Given the description of an element on the screen output the (x, y) to click on. 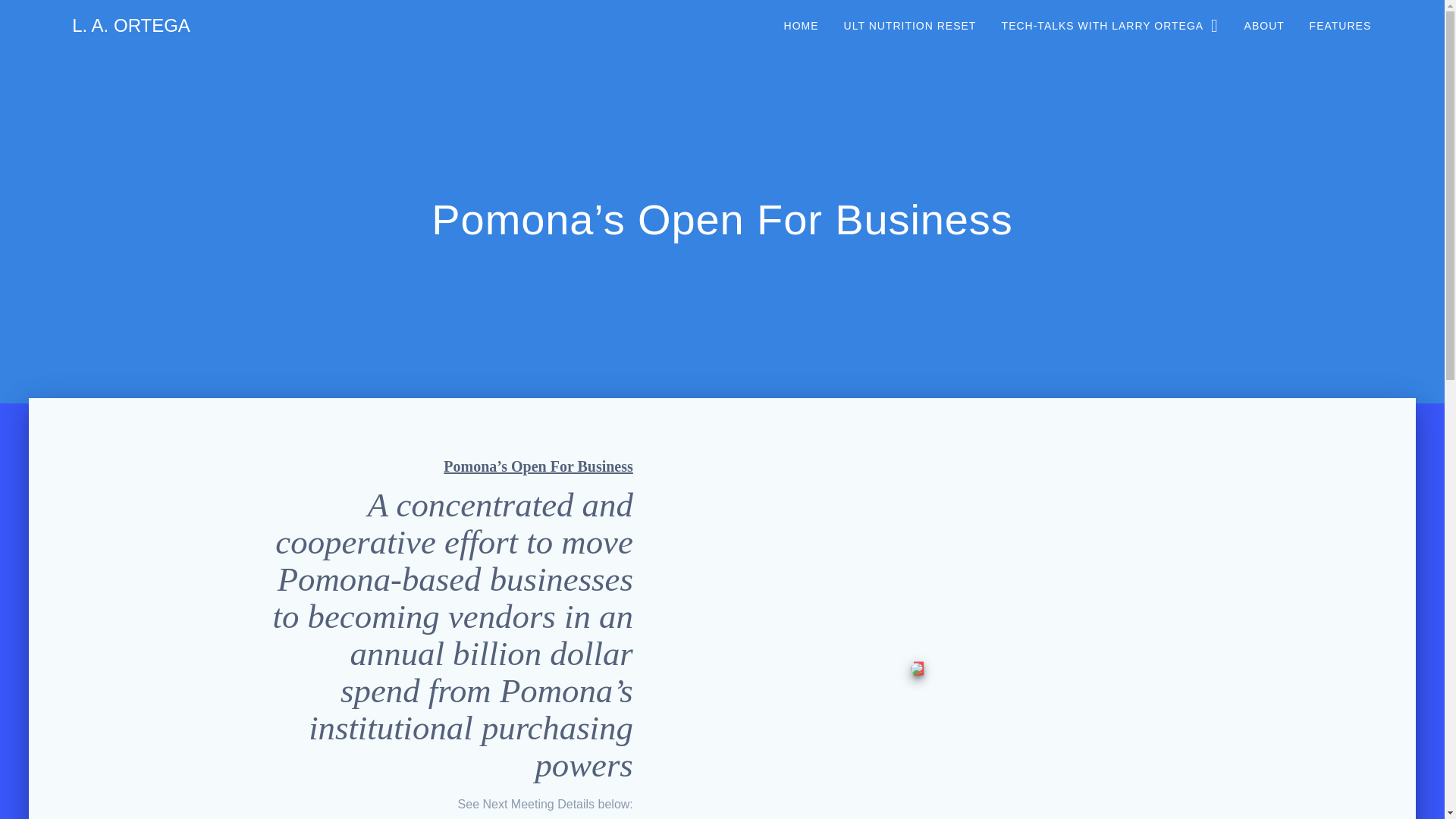
ULT NUTRITION RESET (909, 25)
ABOUT (1264, 25)
L. A. ORTEGA (130, 25)
FEATURES (1340, 25)
TECH-TALKS WITH LARRY ORTEGA (1109, 25)
HOME (801, 25)
